Given the description of an element on the screen output the (x, y) to click on. 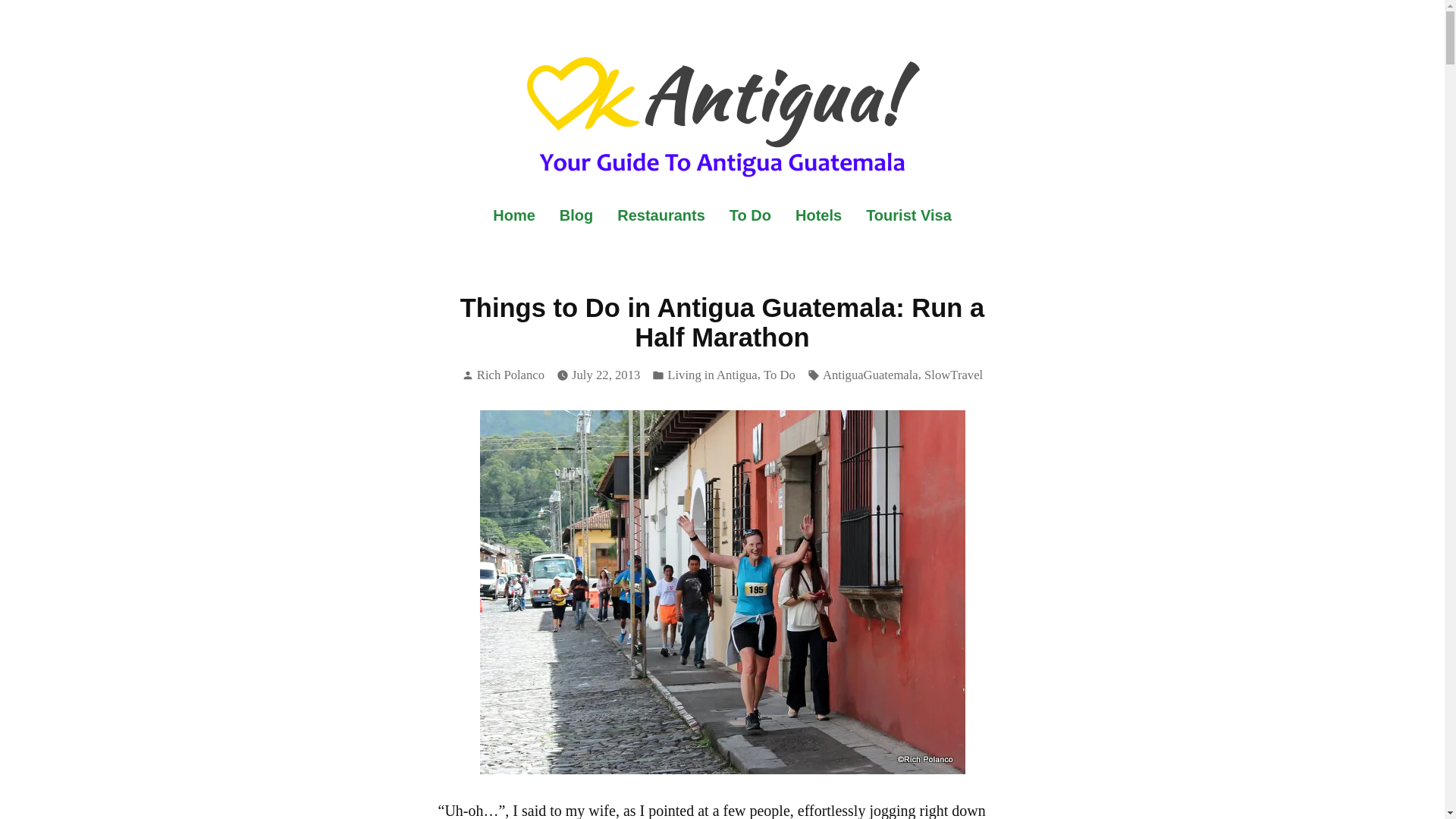
Tourist Visa (902, 214)
Blog (576, 214)
Living in Antigua (711, 375)
July 22, 2013 (606, 375)
To Do (750, 214)
Home (520, 214)
To Do (778, 375)
AntiguaGuatemala (870, 375)
Hotels (818, 214)
